Given the description of an element on the screen output the (x, y) to click on. 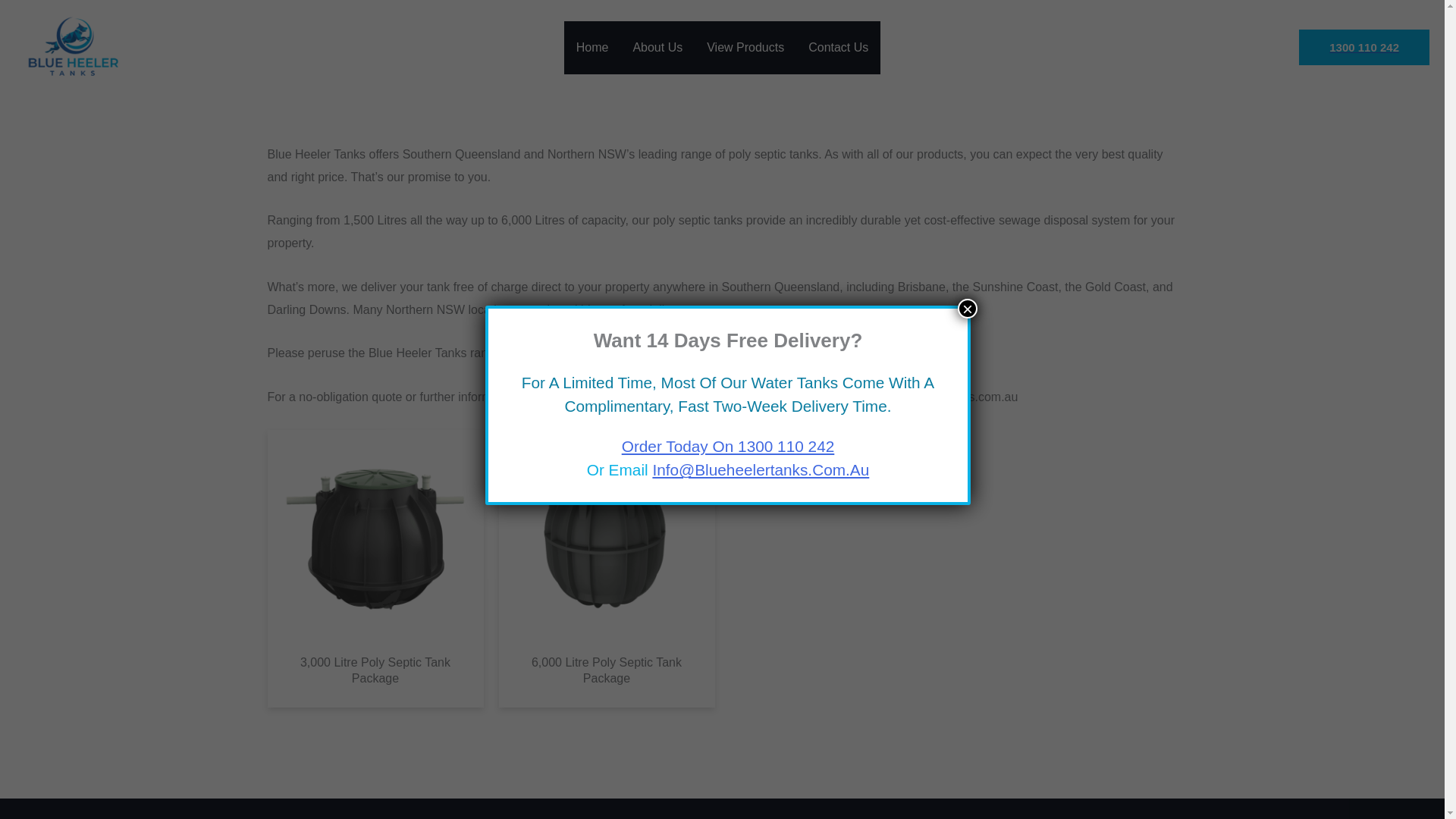
About Us (657, 47)
Home (592, 47)
Contact Us (838, 47)
1300 110 242 (1363, 47)
6,000 Litre Poly Septic Tank Package (606, 671)
Order Today On 1300 110 242 (727, 446)
3,000 Litre Poly Septic Tank Package (375, 671)
View Products (745, 47)
